Given the description of an element on the screen output the (x, y) to click on. 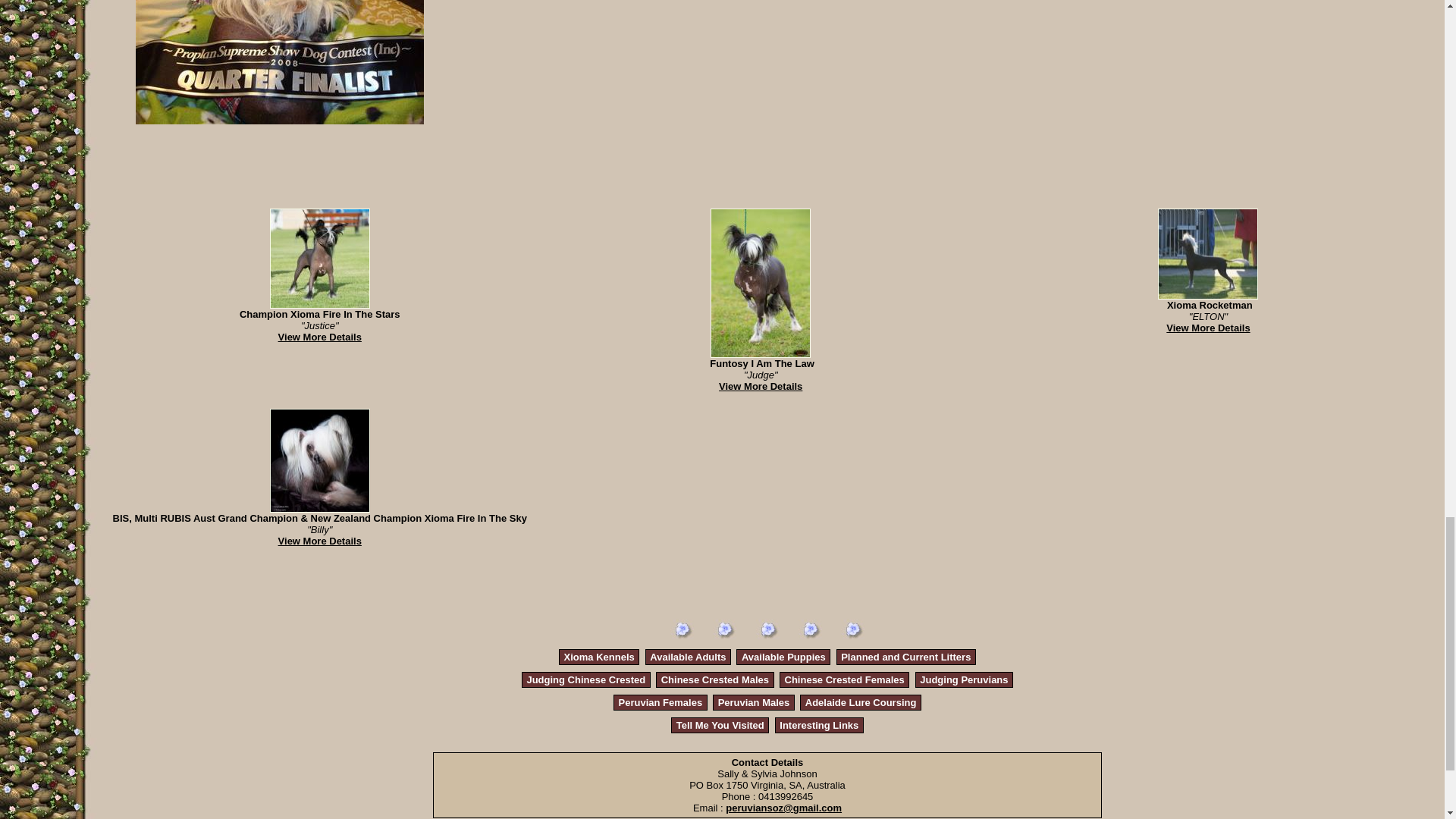
Peruvian Males (753, 702)
Adelaide Lure Coursing (861, 702)
Interesting Links (818, 725)
Available Adults (687, 656)
View More Details (760, 386)
View More Details (319, 541)
Xioma Kennels (599, 656)
Available Puppies (783, 656)
Chinese Crested Males (714, 679)
Judging Peruvians (963, 679)
View More Details (1207, 327)
Planned and Current Litters (906, 656)
Peruvian Females (660, 702)
Chinese Crested Females (844, 679)
Judging Chinese Crested (585, 679)
